Given the description of an element on the screen output the (x, y) to click on. 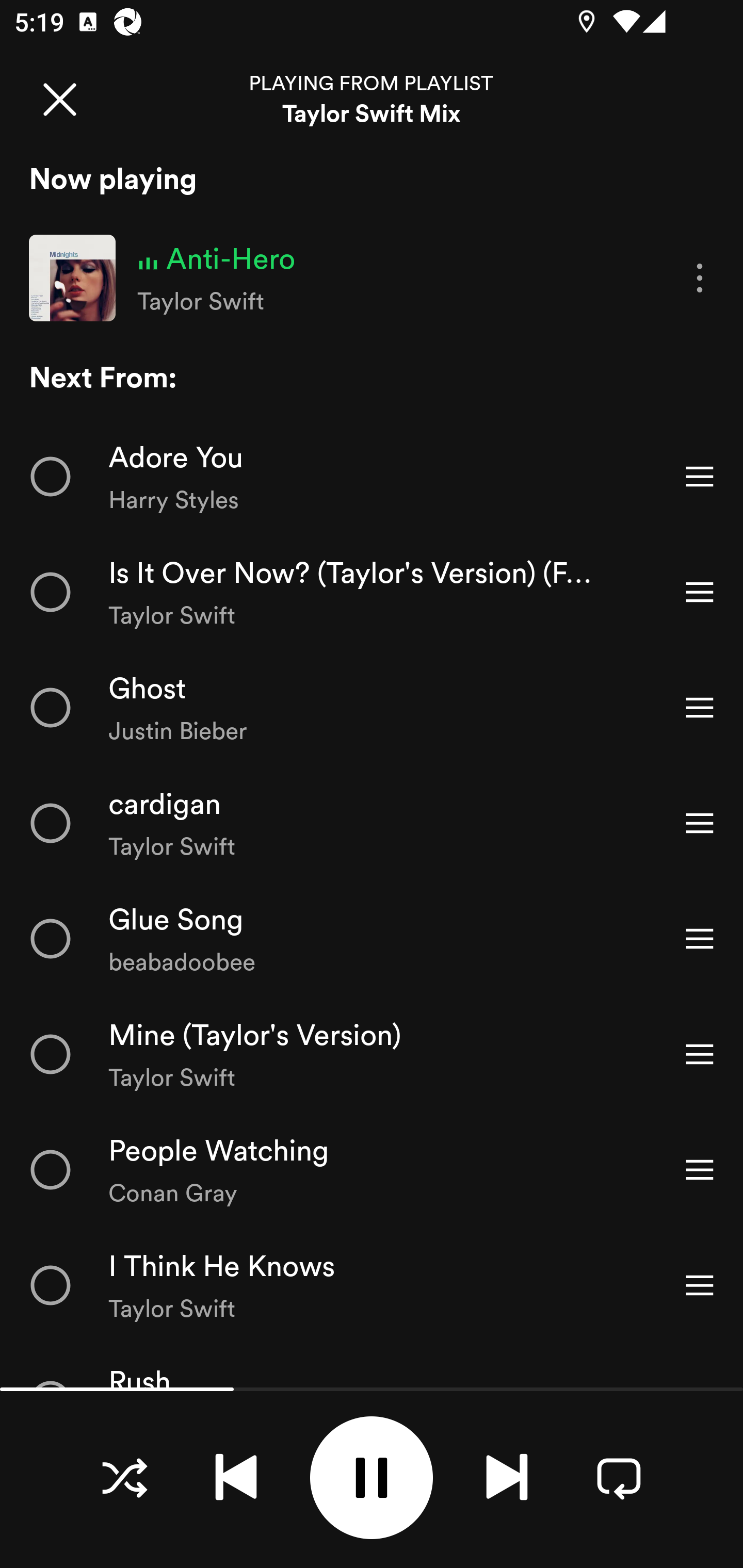
Close (59, 99)
PLAYING FROM PLAYLIST Taylor Swift Mix (371, 99)
More options for song Anti-Hero (699, 278)
Adore You Harry Styles Reorder track (371, 476)
Ghost Justin Bieber Reorder track (371, 707)
cardigan Taylor Swift Reorder track (371, 823)
Glue Song beabadoobee Reorder track (371, 939)
Mine (Taylor's Version) Taylor Swift Reorder track (371, 1054)
People Watching Conan Gray Reorder track (371, 1169)
I Think He Knows Taylor Swift Reorder track (371, 1285)
Rush Reorder track (371, 1365)
Pause (371, 1477)
Previous (235, 1477)
Next (507, 1477)
Choose a Listening Mode (123, 1477)
Repeat (618, 1477)
